Given the description of an element on the screen output the (x, y) to click on. 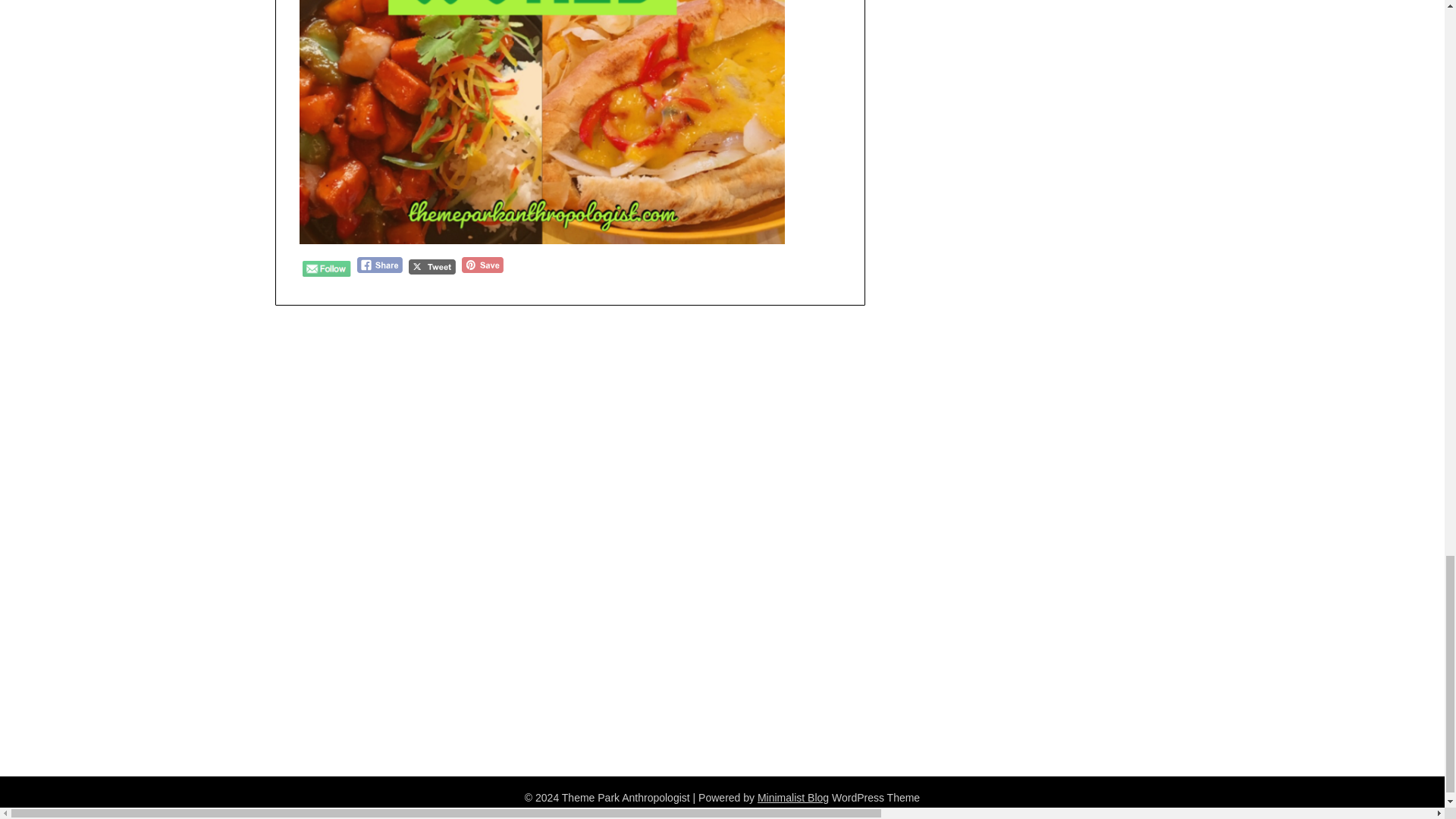
Facebook Share (379, 264)
Tweet (432, 267)
Pin Share (482, 264)
Minimalist Blog (792, 797)
